Given the description of an element on the screen output the (x, y) to click on. 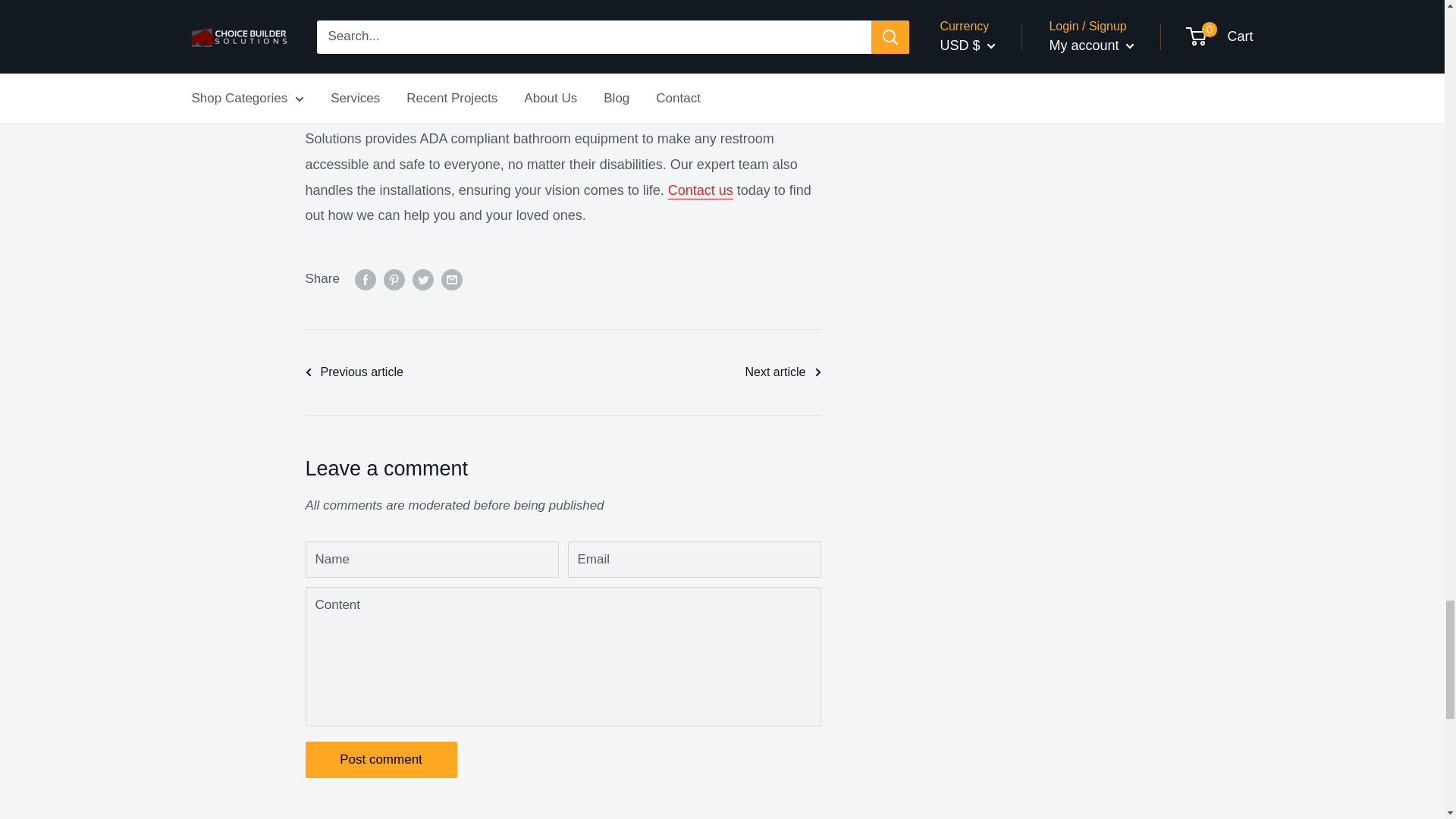
Contact Us (700, 190)
